Given the description of an element on the screen output the (x, y) to click on. 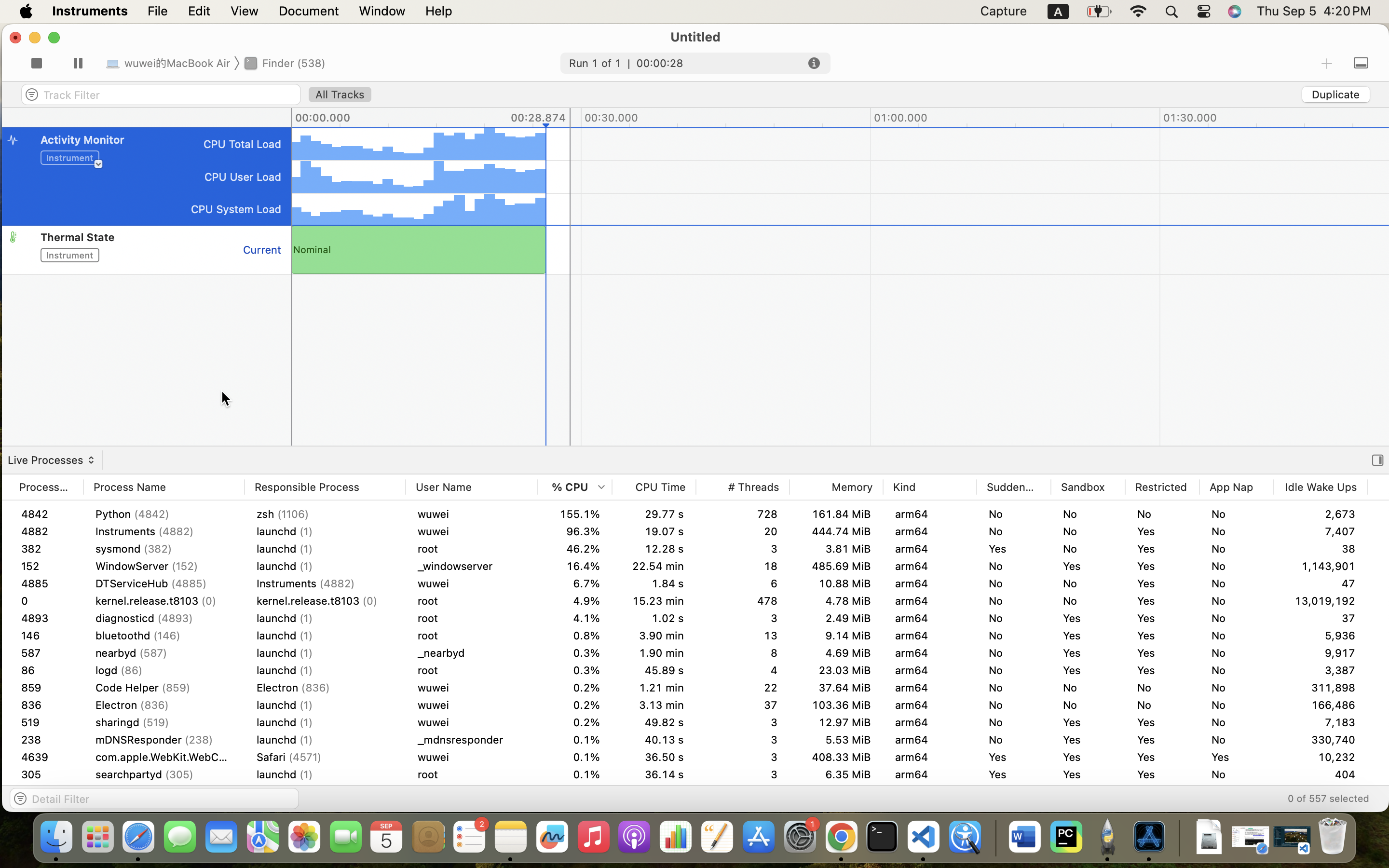
9.88 s Element type: AXStaticText (653, 635)
com.apple.WebKit.WebContent (2392) Element type: AXStaticText (163, 808)
23.11 MiB Element type: AXStaticText (835, 739)
4 Element type: AXStaticText (742, 600)
21.51 s Element type: AXStaticText (653, 756)
